Given the description of an element on the screen output the (x, y) to click on. 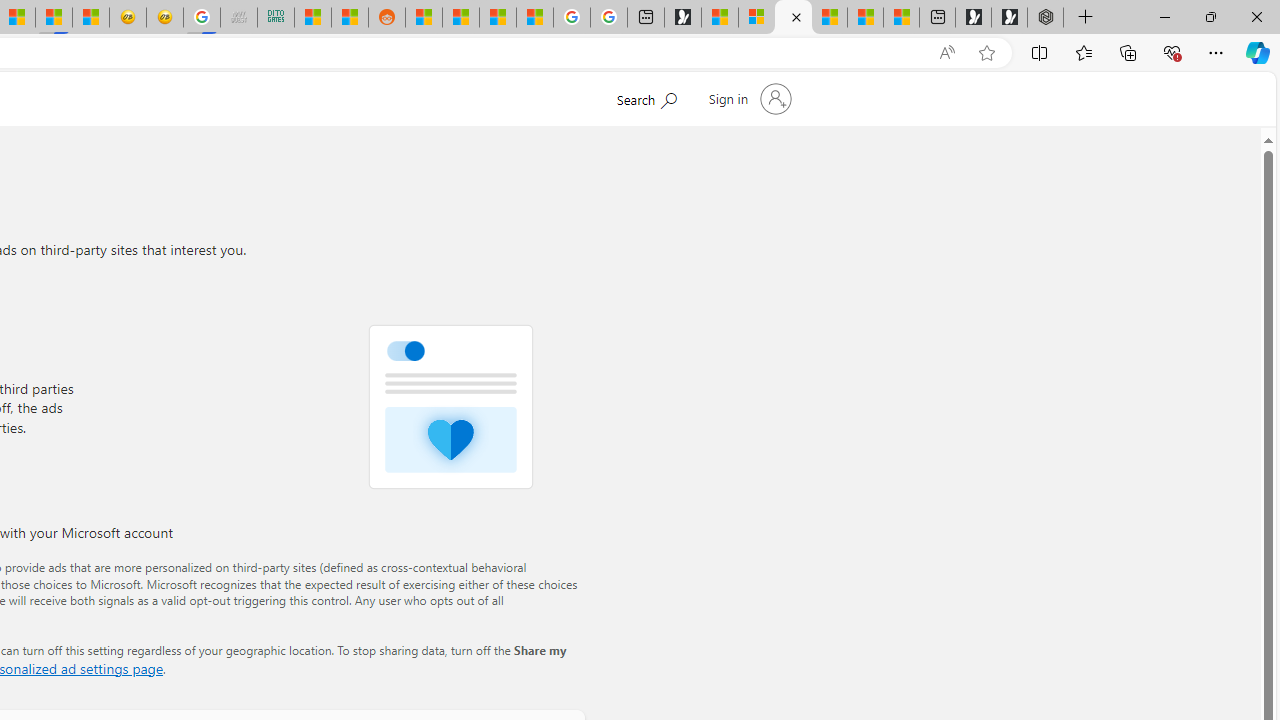
Search Microsoft.com (646, 97)
